Given the description of an element on the screen output the (x, y) to click on. 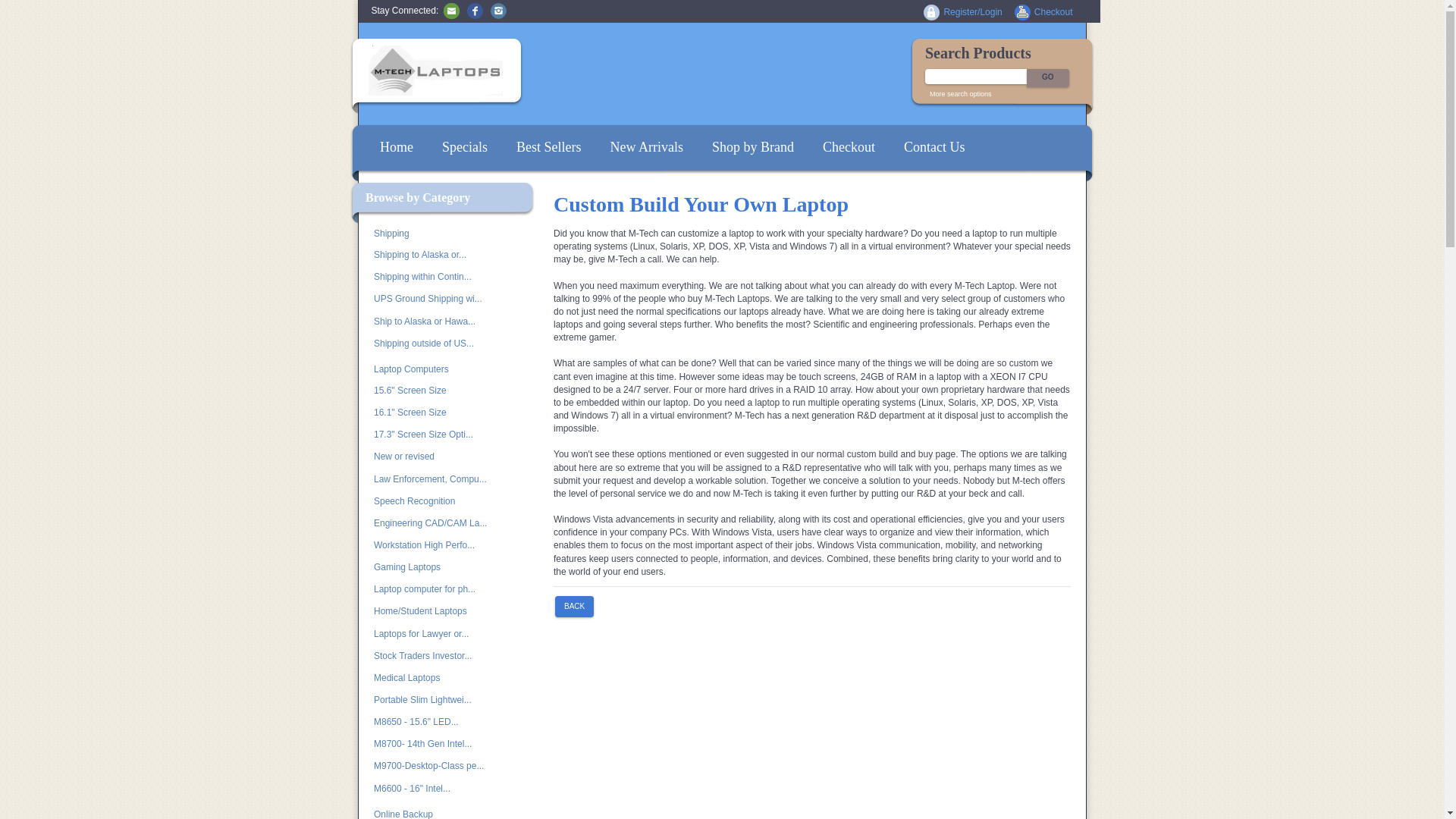
Shipping (441, 233)
Shipping outside of US... (438, 343)
Checkout (848, 147)
Contact Us (452, 9)
17.3" Screen Size Opti... (438, 434)
Home (396, 147)
New or revised (438, 456)
Laptop Computers (441, 369)
Shop by Brand (752, 147)
Best Sellers (548, 147)
